Given the description of an element on the screen output the (x, y) to click on. 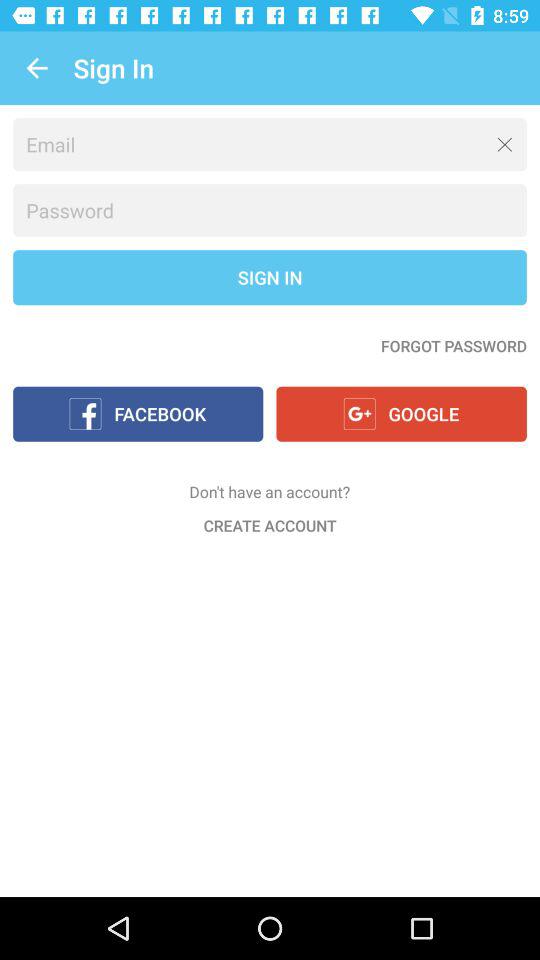
turn on the item above the google item (453, 345)
